Given the description of an element on the screen output the (x, y) to click on. 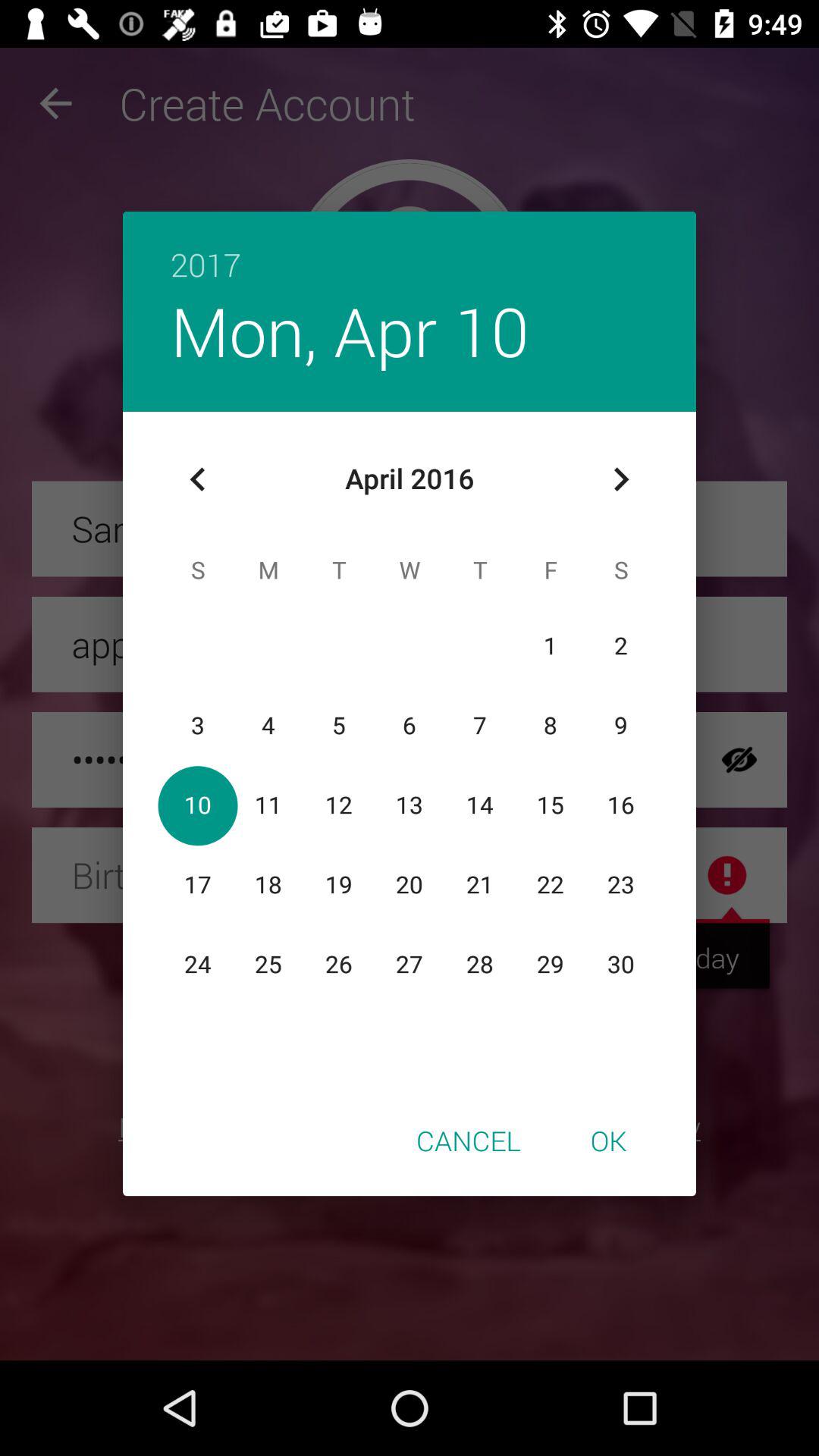
select the item above mon, apr 10 icon (409, 248)
